Given the description of an element on the screen output the (x, y) to click on. 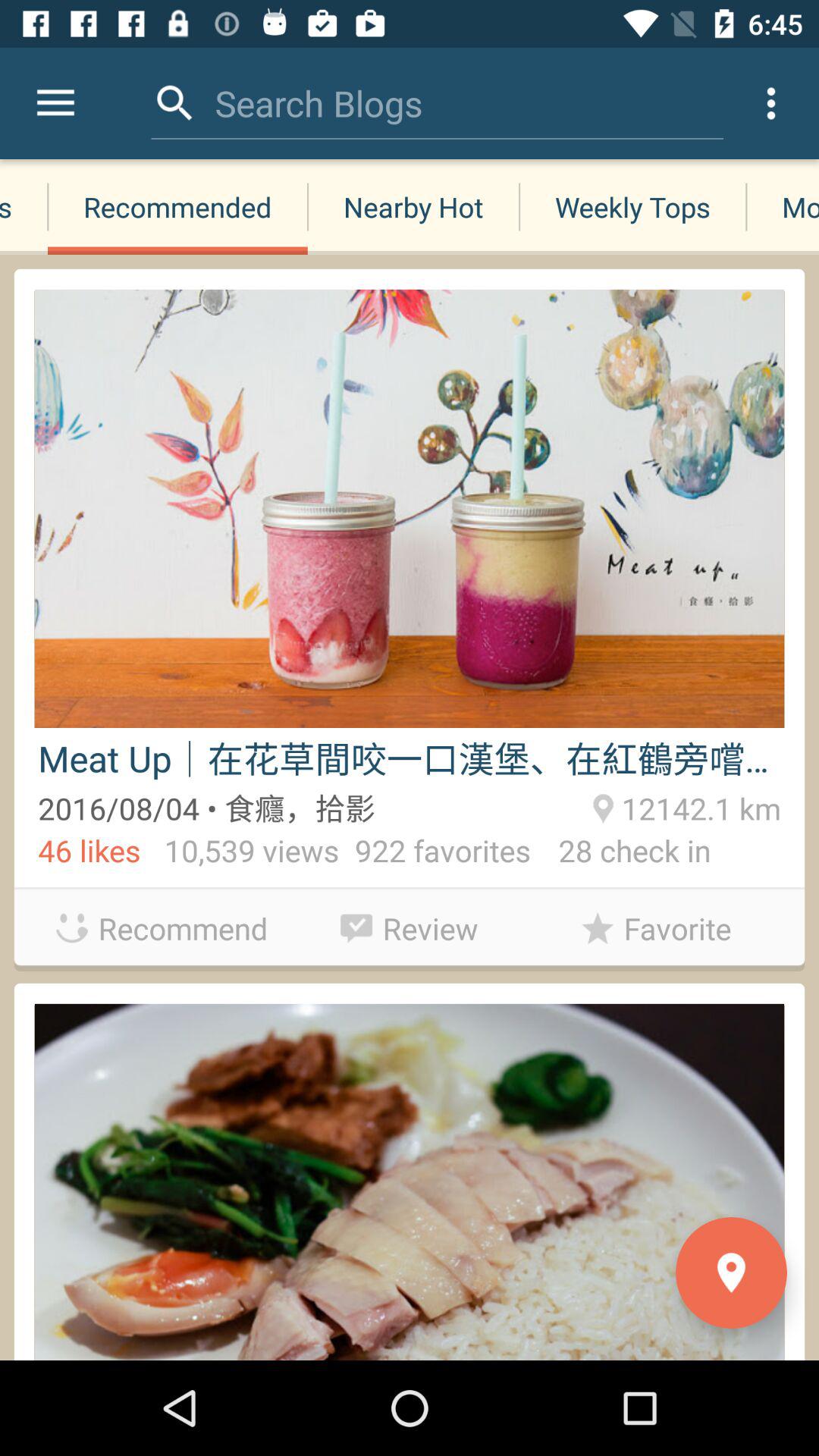
choose icon next to the new blogs (177, 206)
